Given the description of an element on the screen output the (x, y) to click on. 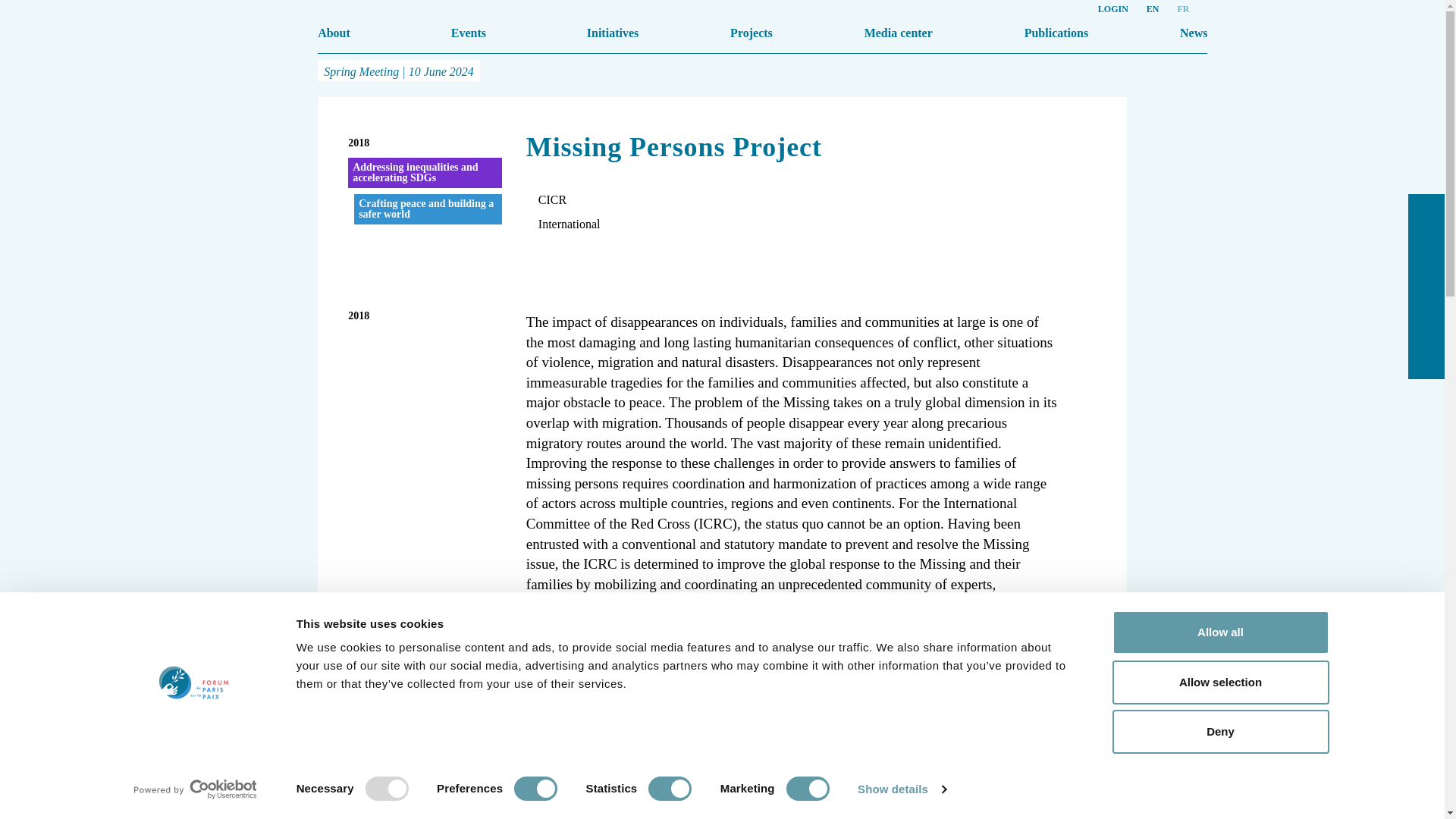
Allow selection (1219, 681)
Paris Peace Forum (78, 42)
Deny (1219, 731)
Allow all (1219, 632)
Show details (900, 789)
